Given the description of an element on the screen output the (x, y) to click on. 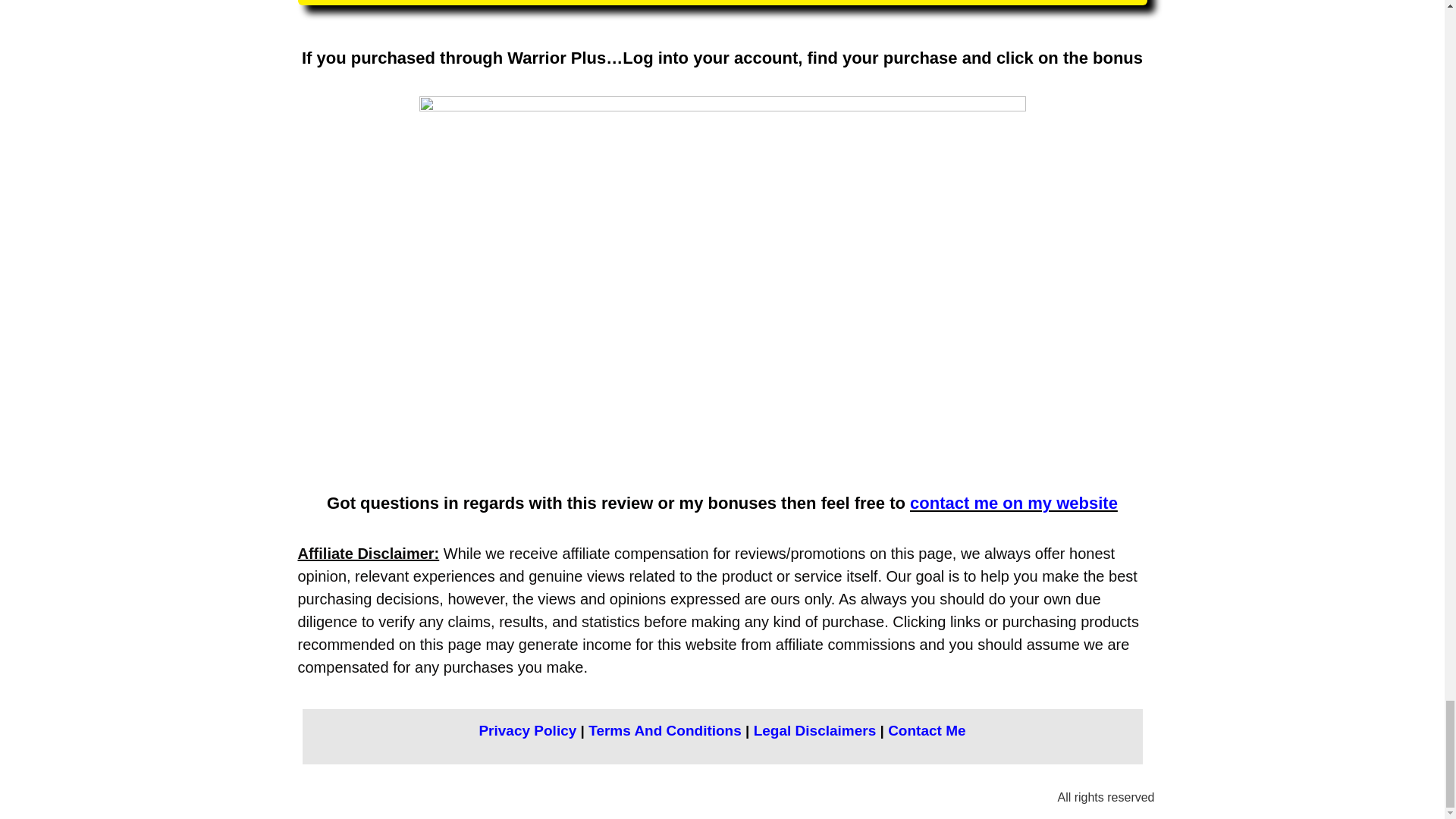
Contact Me (926, 730)
Legal Disclaimers (815, 730)
Terms And Conditions (664, 730)
contact me on my website (1014, 502)
Privacy Policy (527, 730)
